Given the description of an element on the screen output the (x, y) to click on. 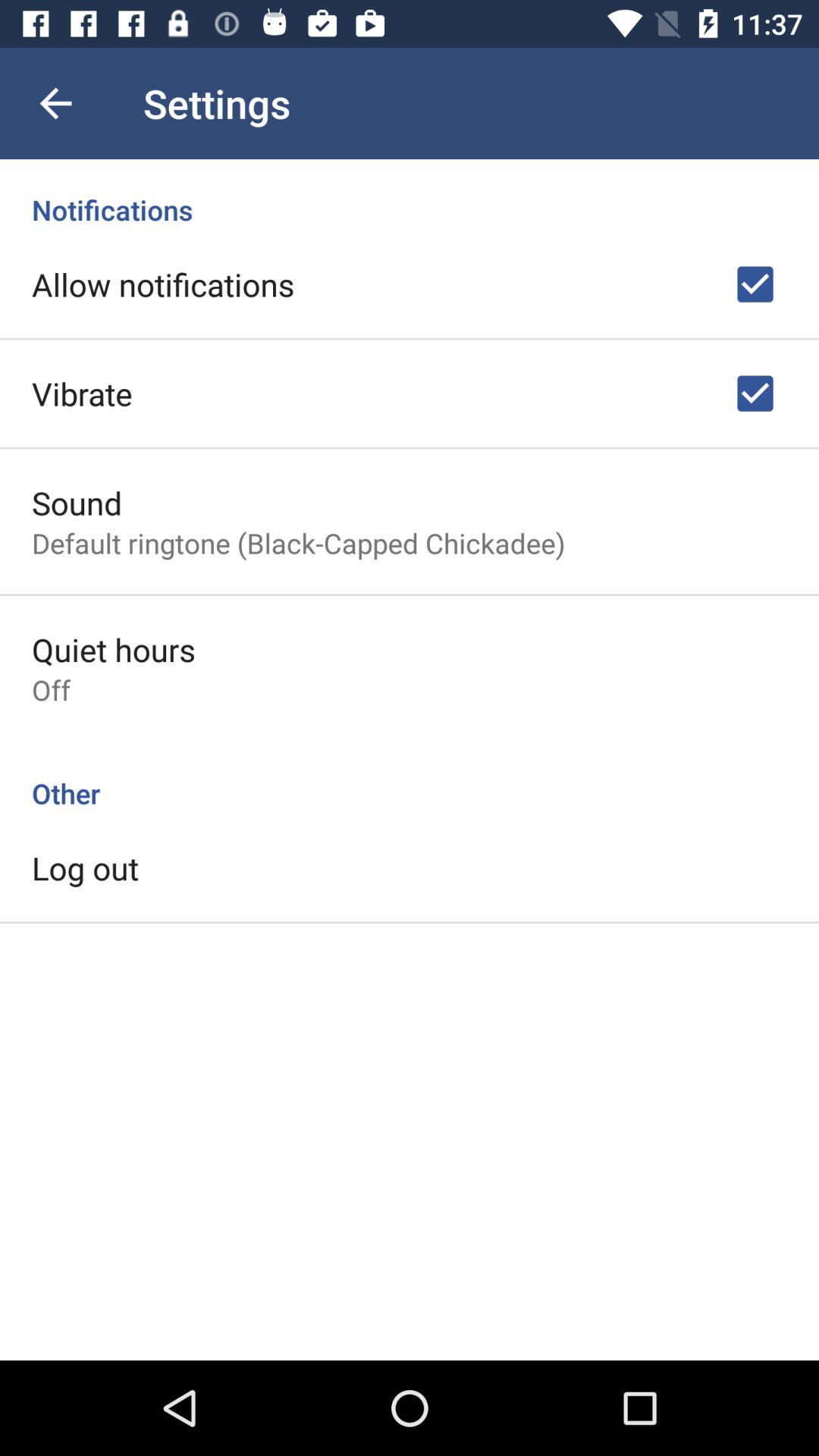
launch the icon below the vibrate item (76, 502)
